Given the description of an element on the screen output the (x, y) to click on. 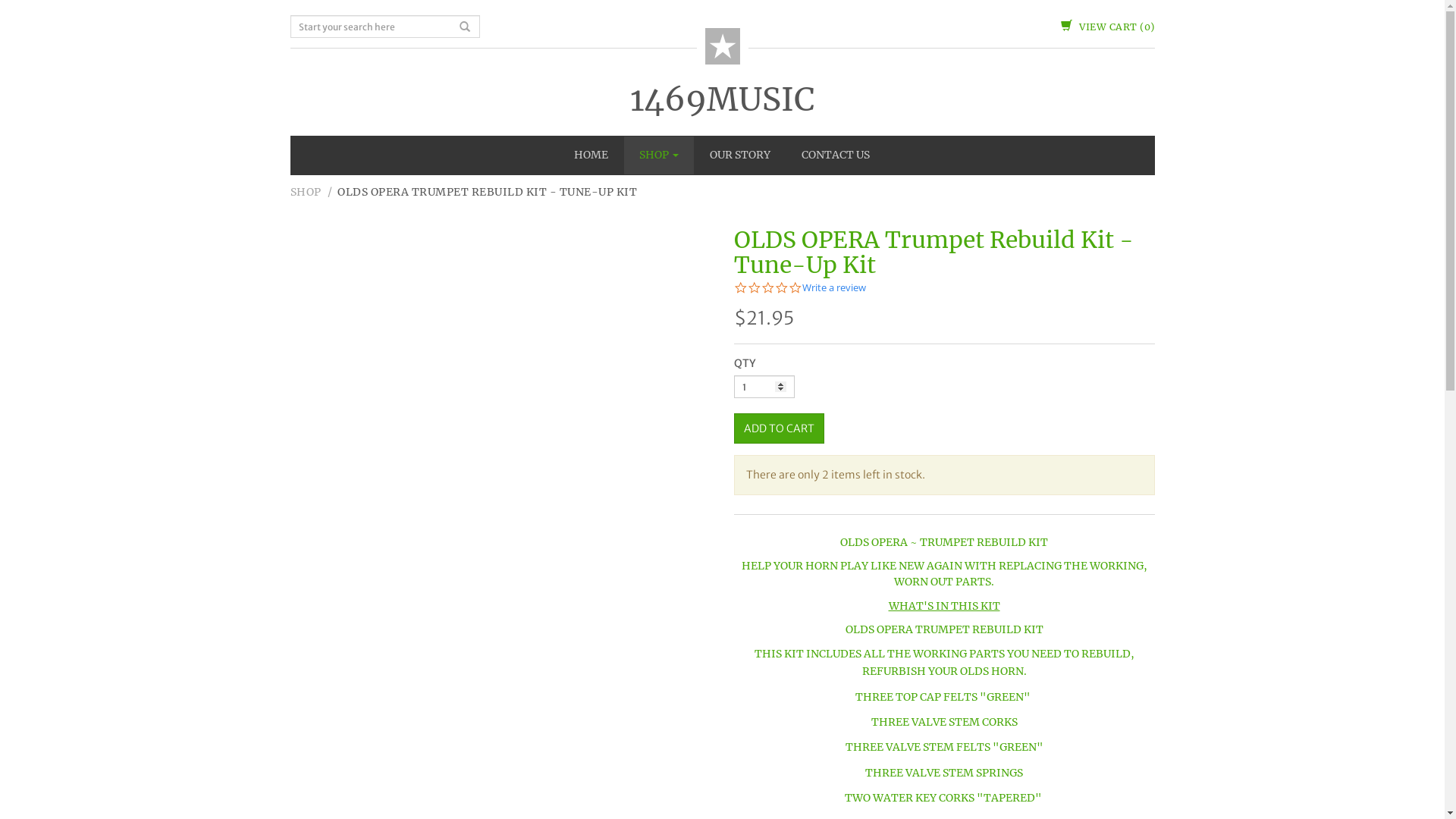
CONTACT US Element type: text (835, 155)
SHOP Element type: text (304, 191)
HOME Element type: text (590, 155)
OUR STORY Element type: text (739, 155)
Write a review Element type: text (834, 287)
VIEW CART (0) Element type: text (1107, 26)
1469MUSIC Element type: text (721, 99)
Add to Cart Element type: text (779, 428)
SHOP Element type: text (658, 155)
